Given the description of an element on the screen output the (x, y) to click on. 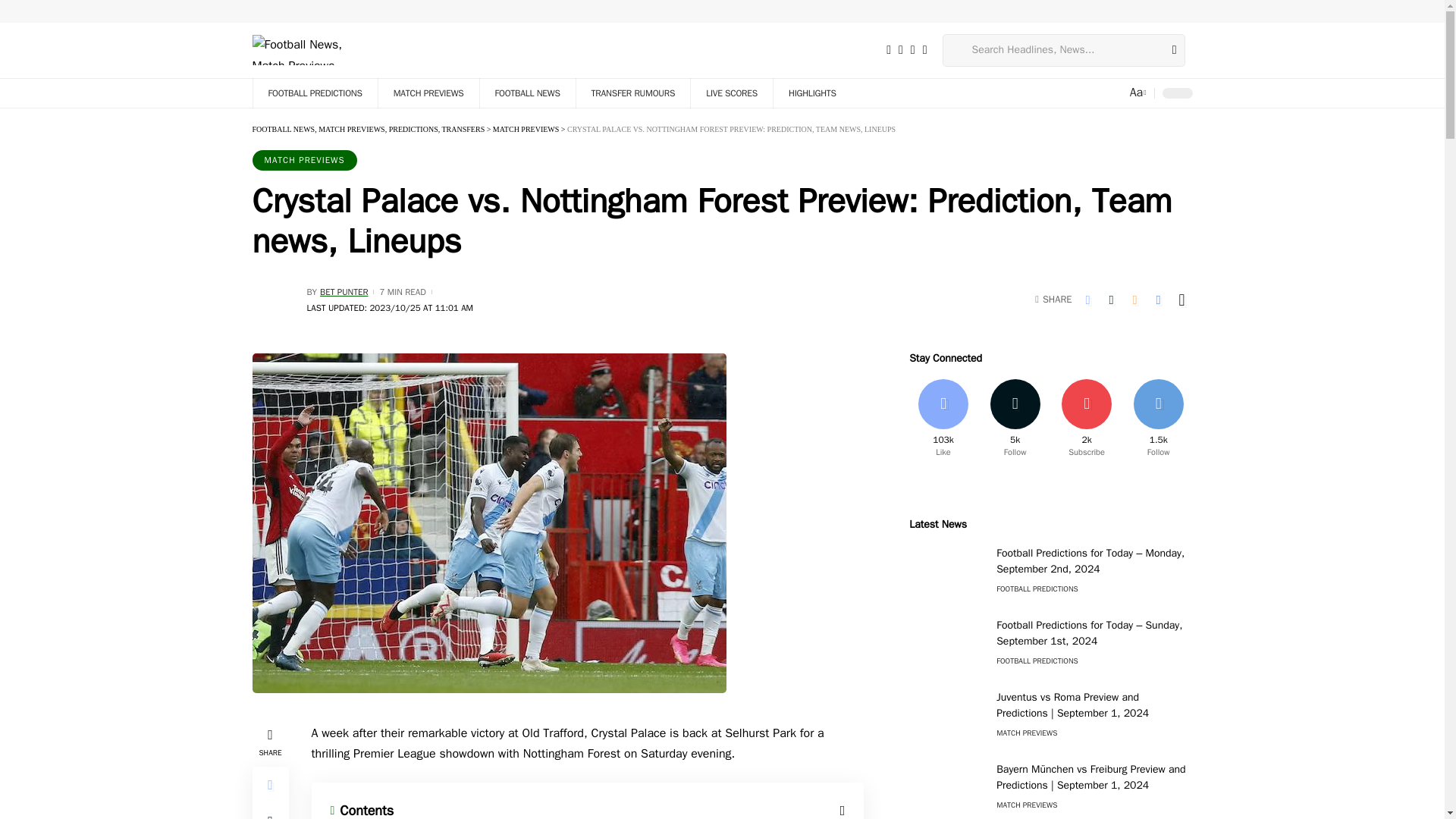
Football News, Match Previews, Predictions, Transfers (299, 50)
TRANSFER RUMOURS (632, 92)
LIVE SCORES (731, 92)
MATCH PREVIEWS (428, 92)
FOOTBALL PREDICTIONS (314, 92)
FOOTBALL NEWS (527, 92)
Go to the Match Previews Category archives. (526, 129)
Go to Football News, Match Previews, Predictions, Transfers. (367, 129)
HIGHLIGHTS (812, 92)
